Given the description of an element on the screen output the (x, y) to click on. 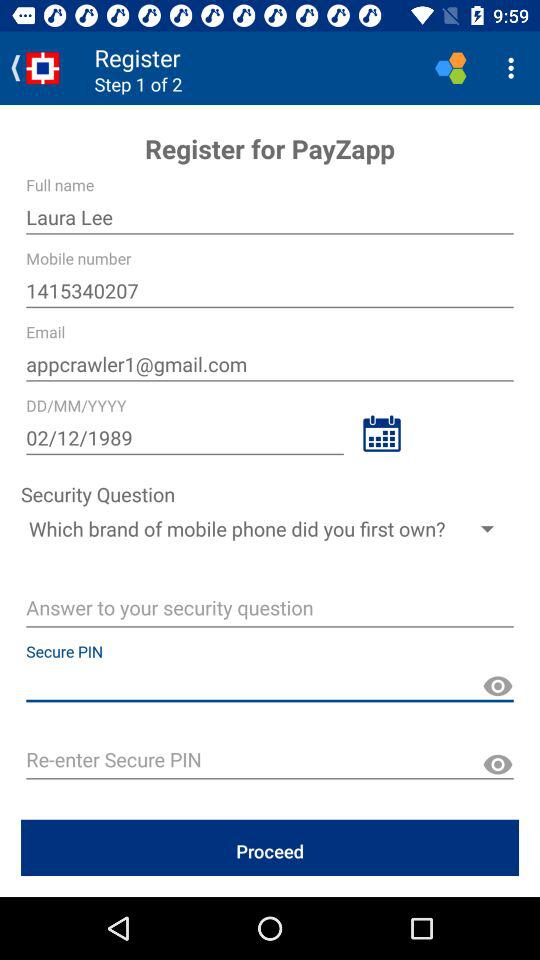
space to type pin again along with show what is typing symbol on right (270, 762)
